Given the description of an element on the screen output the (x, y) to click on. 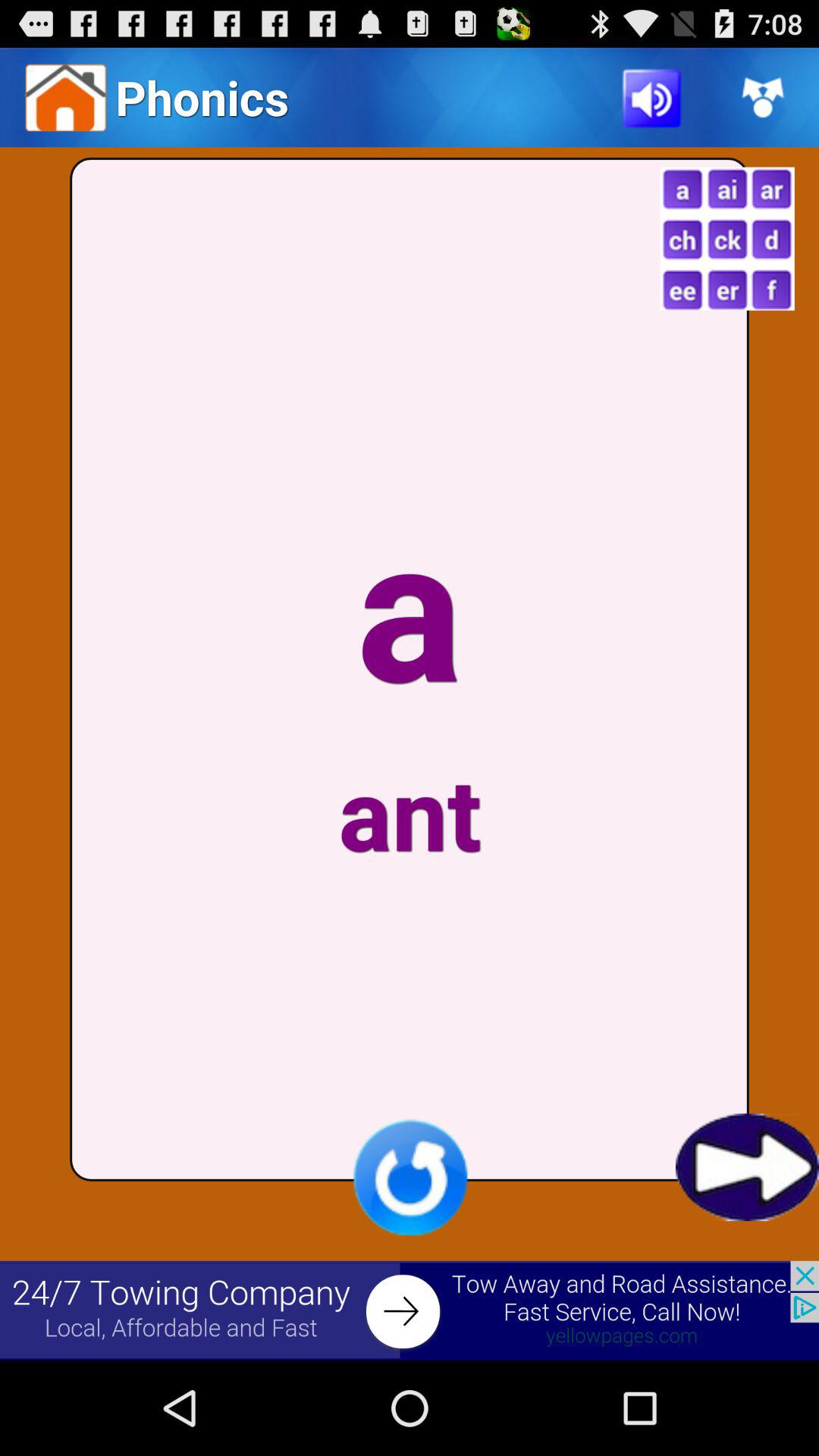
refresh (409, 1177)
